Given the description of an element on the screen output the (x, y) to click on. 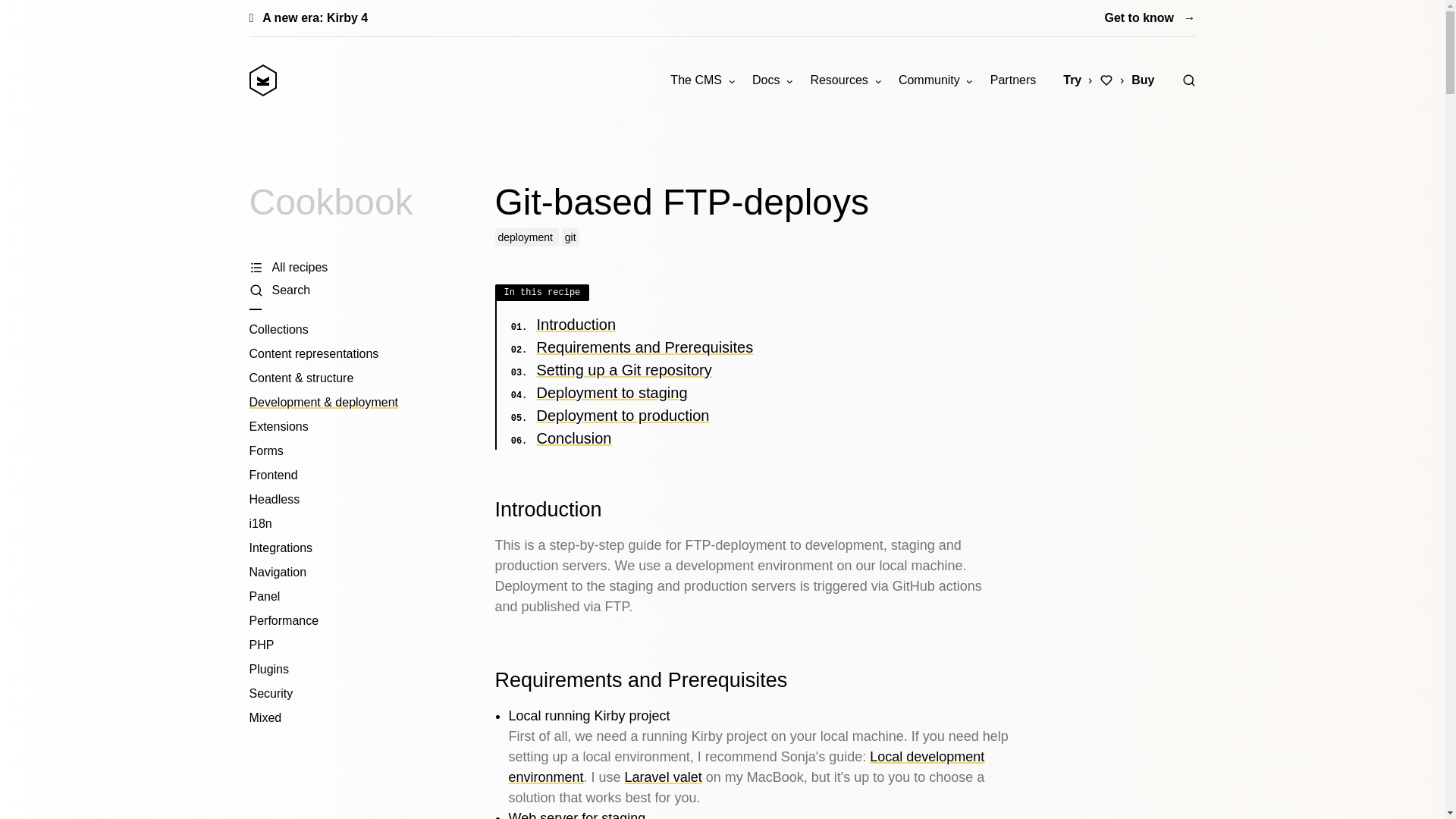
Try (1072, 79)
Partners (1013, 79)
The CMS (701, 79)
Docs (771, 79)
Community (935, 79)
Resources (844, 79)
Buy (1142, 79)
